Given the description of an element on the screen output the (x, y) to click on. 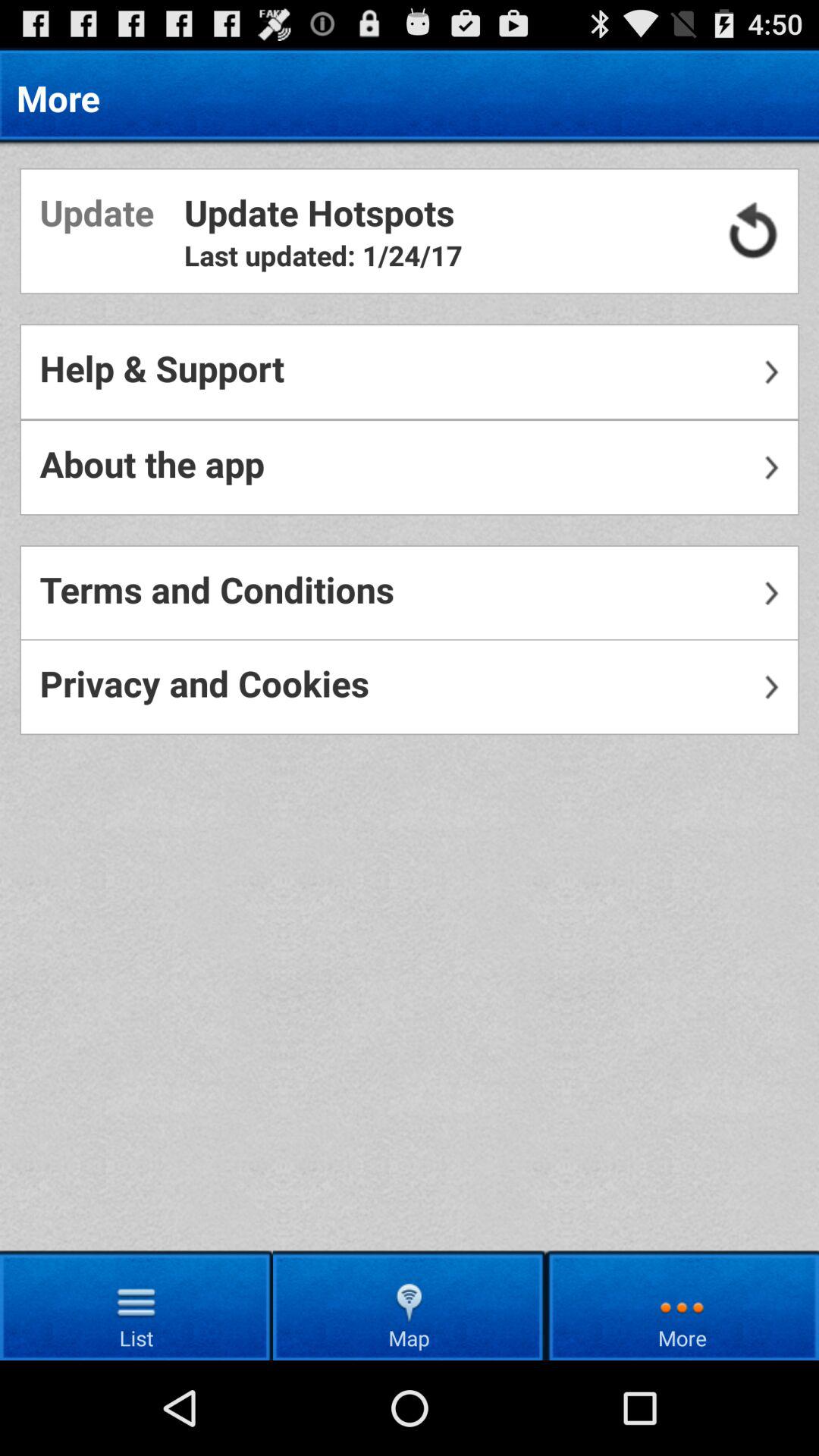
scroll to terms and conditions button (409, 592)
